Given the description of an element on the screen output the (x, y) to click on. 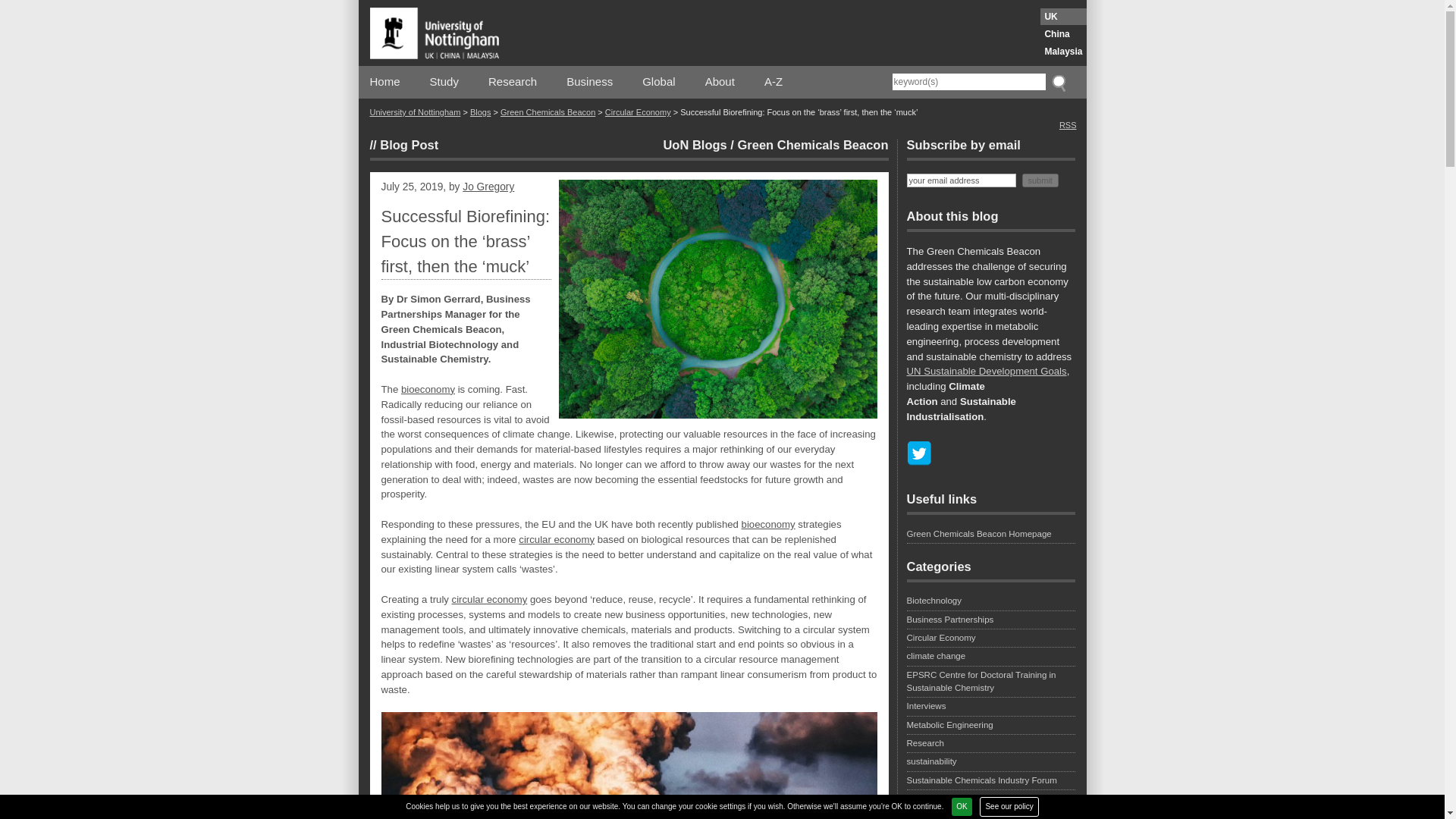
UoN Blogs (694, 144)
Green Chemicals Beacon (812, 144)
Circular Economy (638, 112)
Home (384, 81)
Jo Gregory (488, 186)
Business (589, 81)
Global (658, 81)
China (1063, 33)
A-Z (773, 81)
Study (443, 81)
circular economy (489, 599)
submit (1040, 179)
your email address (961, 179)
UN Sustainable Development Goals (987, 370)
bioeconomy (427, 389)
